Given the description of an element on the screen output the (x, y) to click on. 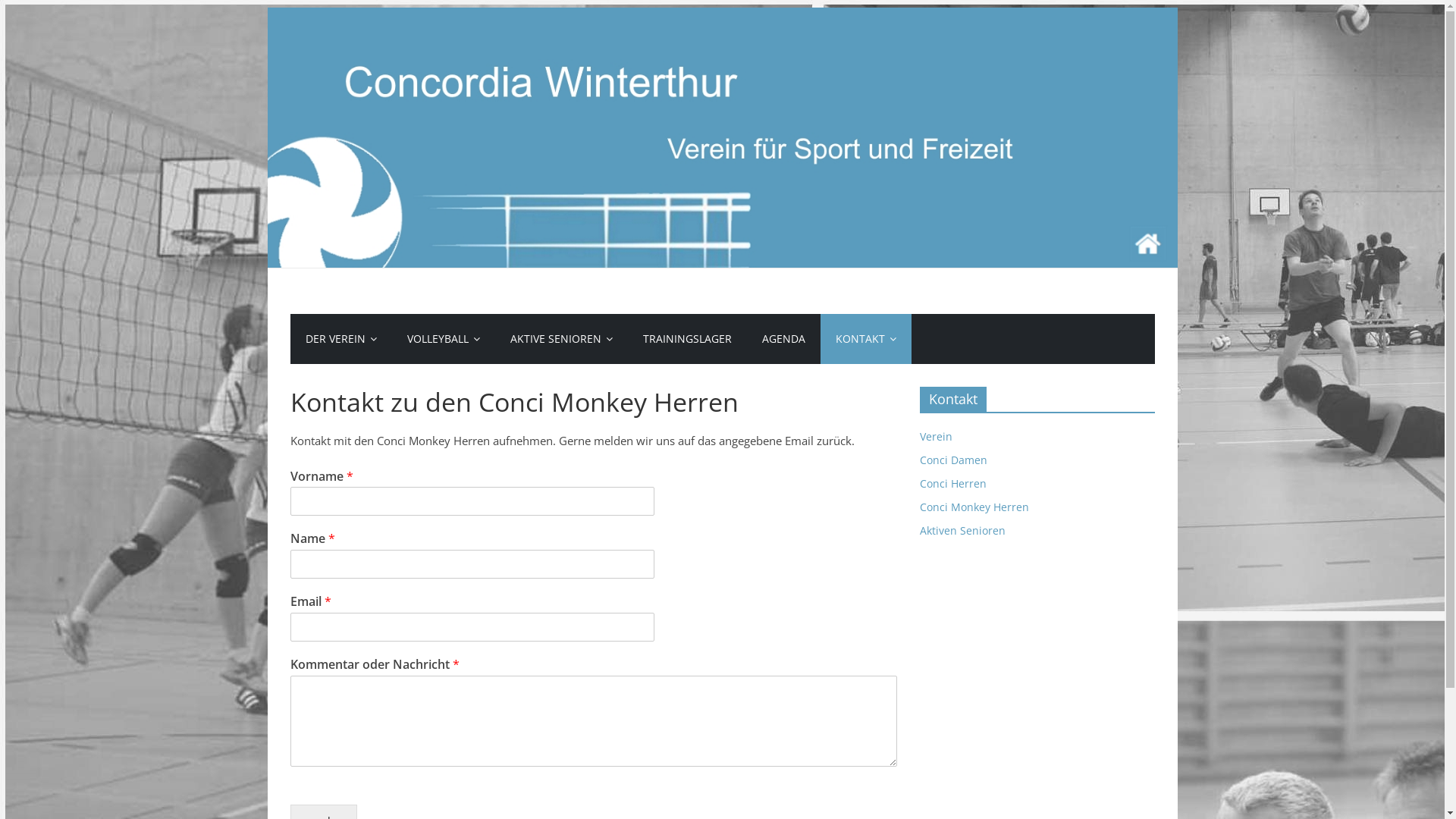
TRAININGSLAGER Element type: text (686, 338)
KONTAKT Element type: text (865, 338)
Concordia Winterthur Element type: hover (721, 16)
Conci Damen Element type: text (952, 459)
Conci Herren Element type: text (952, 483)
AKTIVE SENIOREN Element type: text (560, 338)
DER VEREIN Element type: text (340, 338)
VOLLEYBALL Element type: text (442, 338)
Aktiven Senioren Element type: text (961, 530)
Verein Element type: text (935, 436)
AGENDA Element type: text (782, 338)
Conci Monkey Herren Element type: text (973, 506)
